Given the description of an element on the screen output the (x, y) to click on. 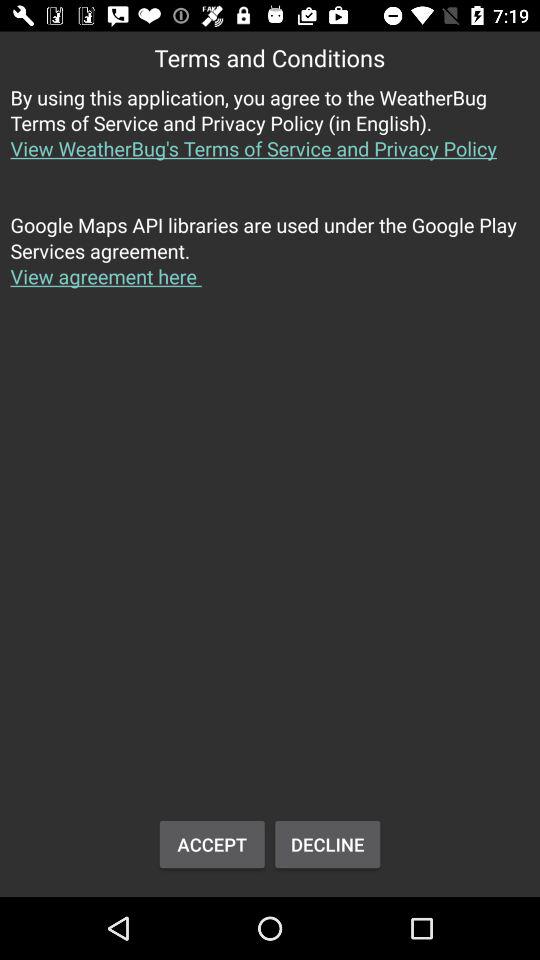
turn on decline button (327, 844)
